Given the description of an element on the screen output the (x, y) to click on. 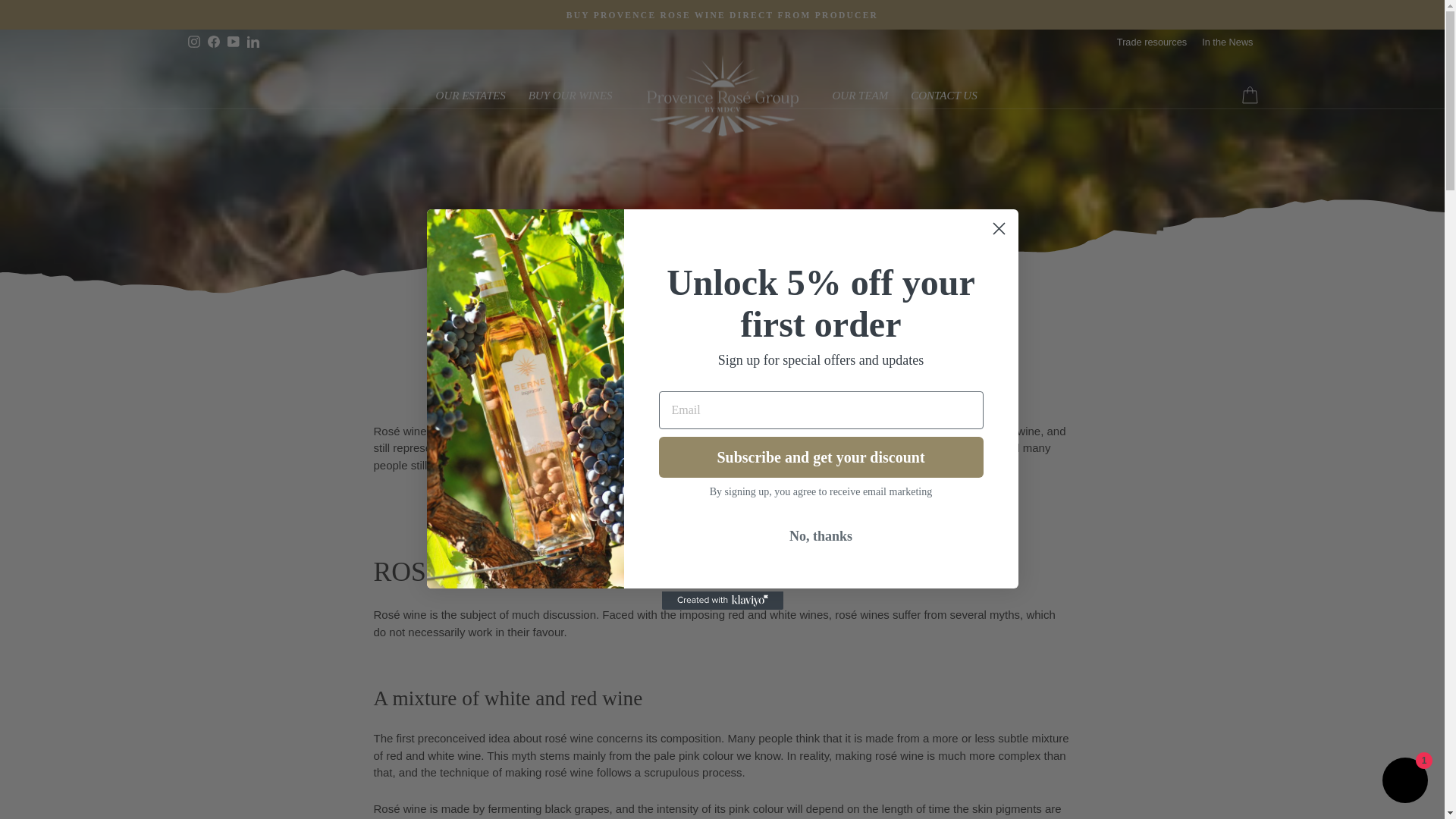
YouTube (232, 42)
Provencerose on Facebook (212, 42)
Facebook (212, 42)
Provencerose on YouTube (232, 42)
Provencerose on LinkedIn (252, 42)
Instagram (193, 42)
Provencerose on Instagram (193, 42)
BUY PROVENCE ROSE WINE DIRECT FROM PRODUCER (722, 14)
